Given the description of an element on the screen output the (x, y) to click on. 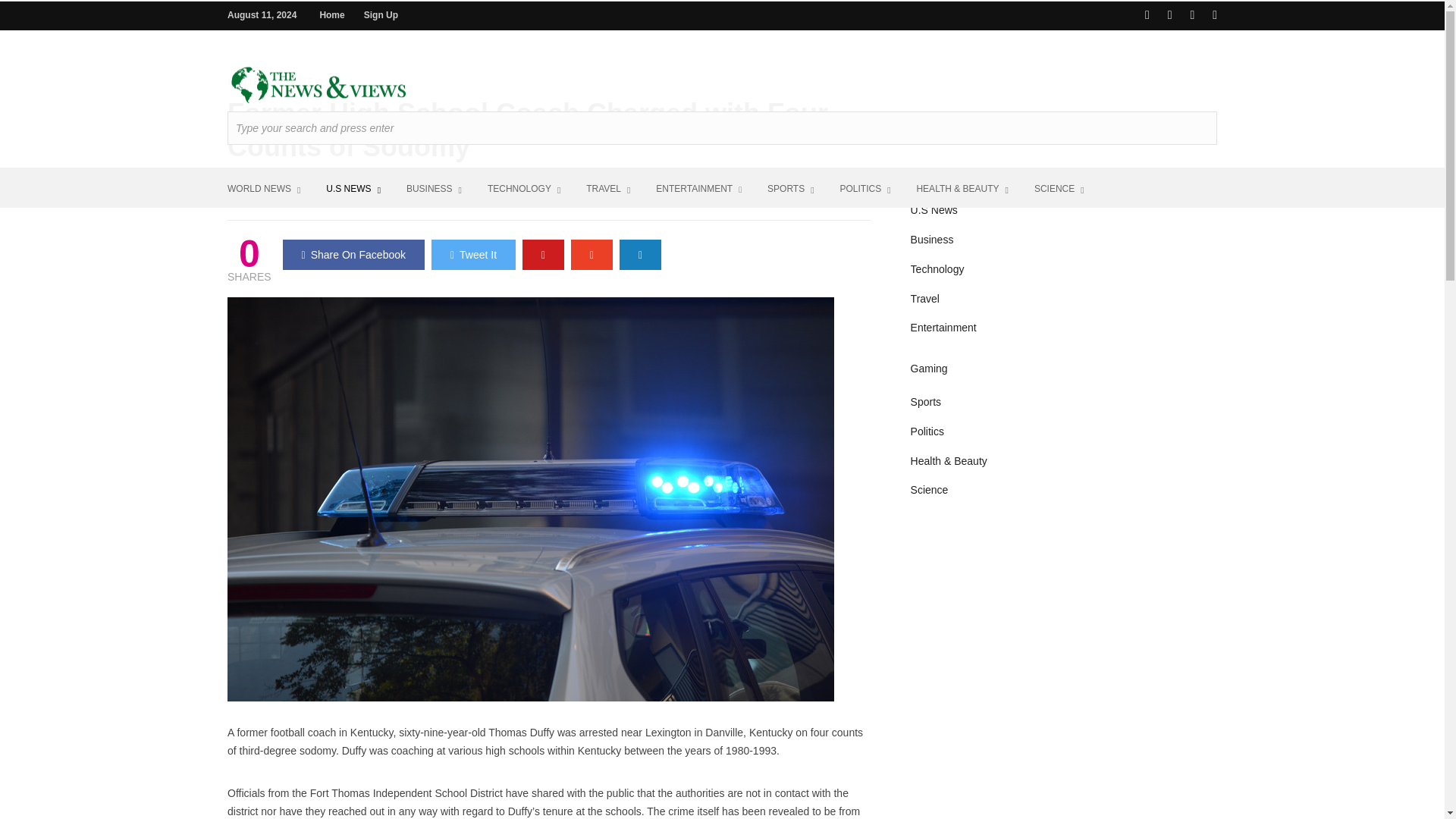
WORLD NEWS (263, 187)
U.S NEWS (352, 187)
Home (330, 14)
Sign Up (380, 14)
